Given the description of an element on the screen output the (x, y) to click on. 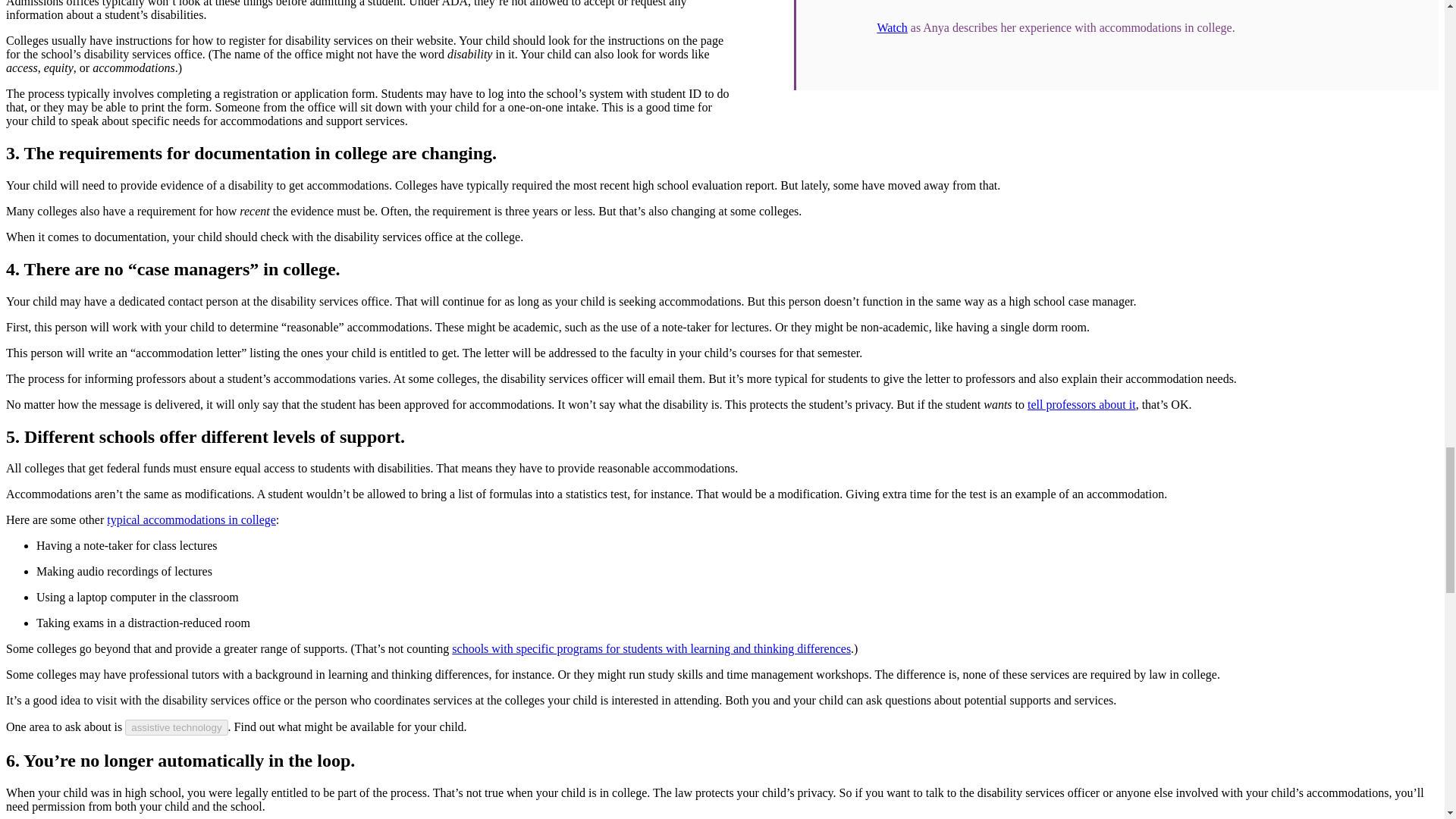
Watch (891, 27)
tell professors about it (1081, 404)
typical accommodations in college (191, 519)
assistive technology (176, 727)
